Given the description of an element on the screen output the (x, y) to click on. 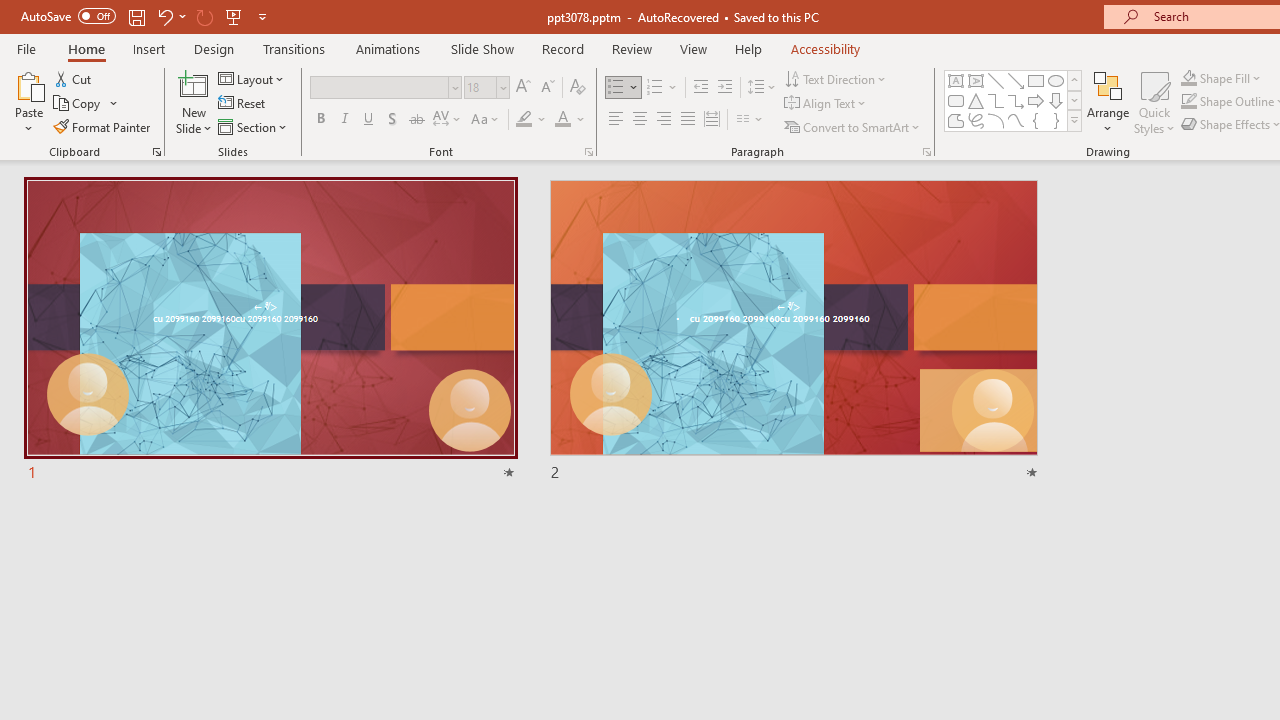
Shape Outline Green, Accent 1 (1188, 101)
